Given the description of an element on the screen output the (x, y) to click on. 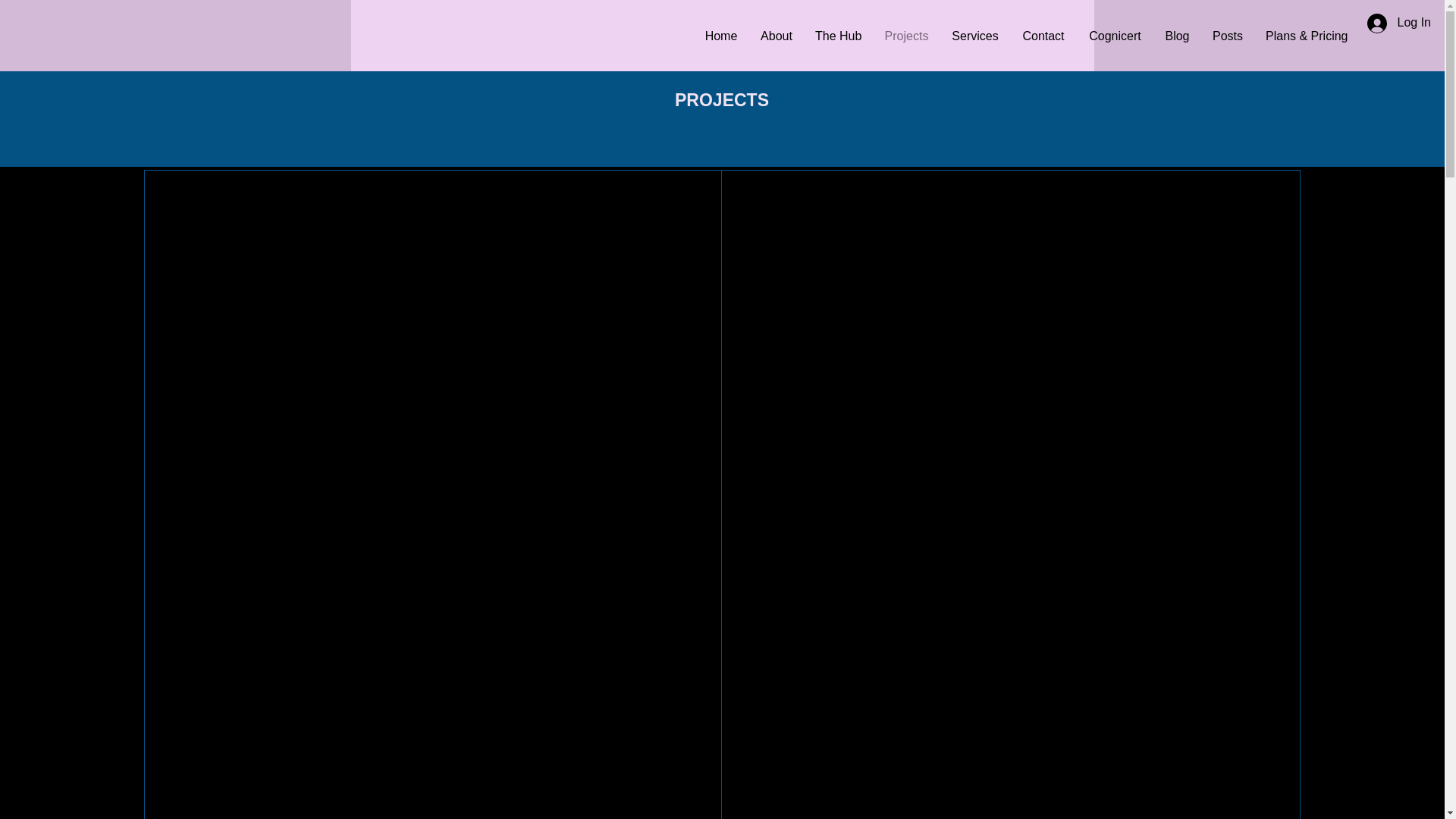
Log In (1398, 23)
Cognicert (1115, 35)
The Hub (837, 35)
Home (721, 35)
Posts (1227, 35)
About (776, 35)
Blog (1177, 35)
Services (975, 35)
Contact (1043, 35)
Projects (906, 35)
